Given the description of an element on the screen output the (x, y) to click on. 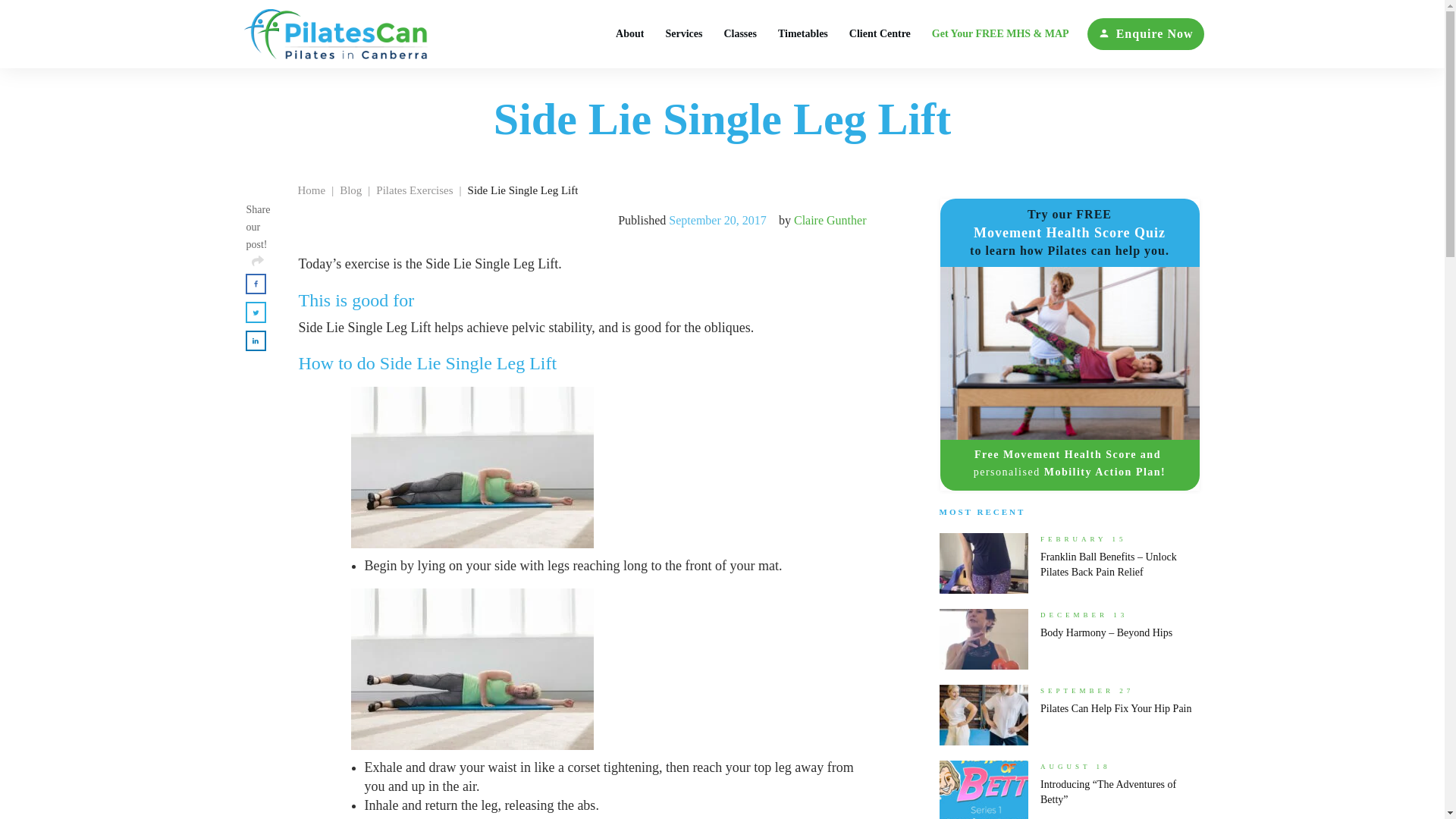
About (629, 34)
Classes (740, 34)
Client Centre (879, 34)
Services (683, 34)
Side lie single leg lift mid Pilates Can (471, 669)
Enquire Now (1145, 33)
PilatesCan-284 (1069, 794)
Timetables (802, 34)
Side lie single leg lift Pilates Can (471, 466)
MHS-update front image3 (1069, 352)
